Given the description of an element on the screen output the (x, y) to click on. 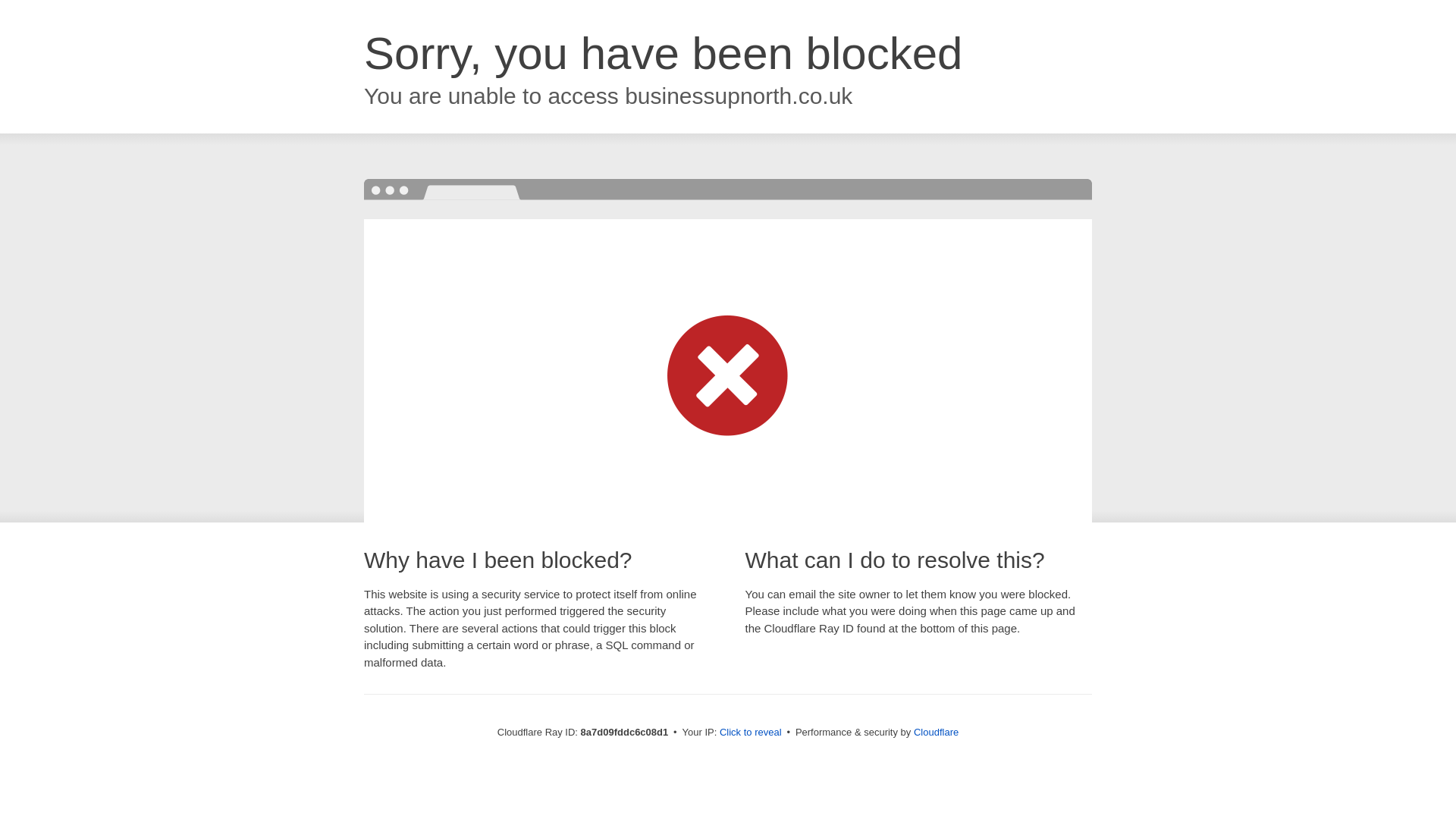
Cloudflare (936, 731)
Click to reveal (750, 732)
